Given the description of an element on the screen output the (x, y) to click on. 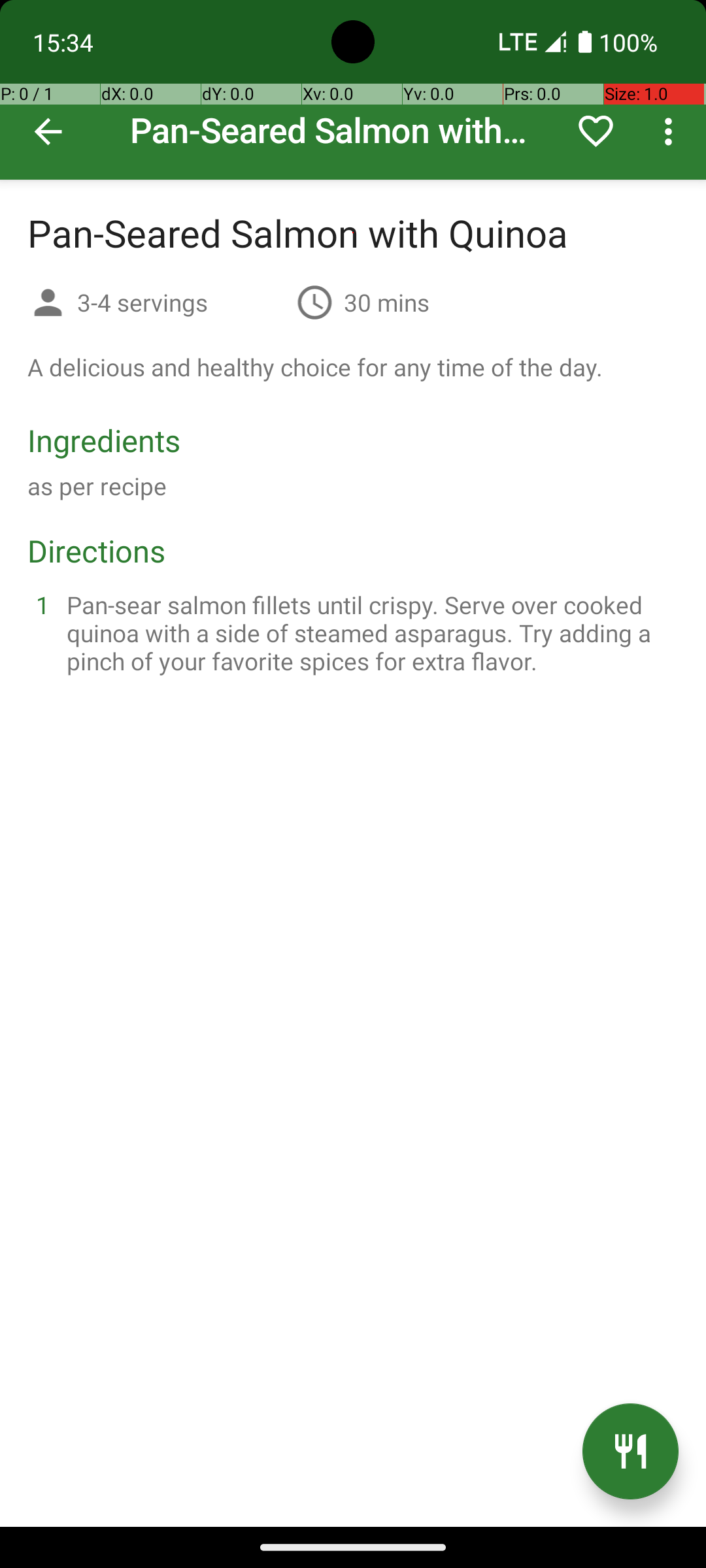
Pan-sear salmon fillets until crispy. Serve over cooked quinoa with a side of steamed asparagus. Try adding a pinch of your favorite spices for extra flavor. Element type: android.widget.TextView (368, 632)
